Given the description of an element on the screen output the (x, y) to click on. 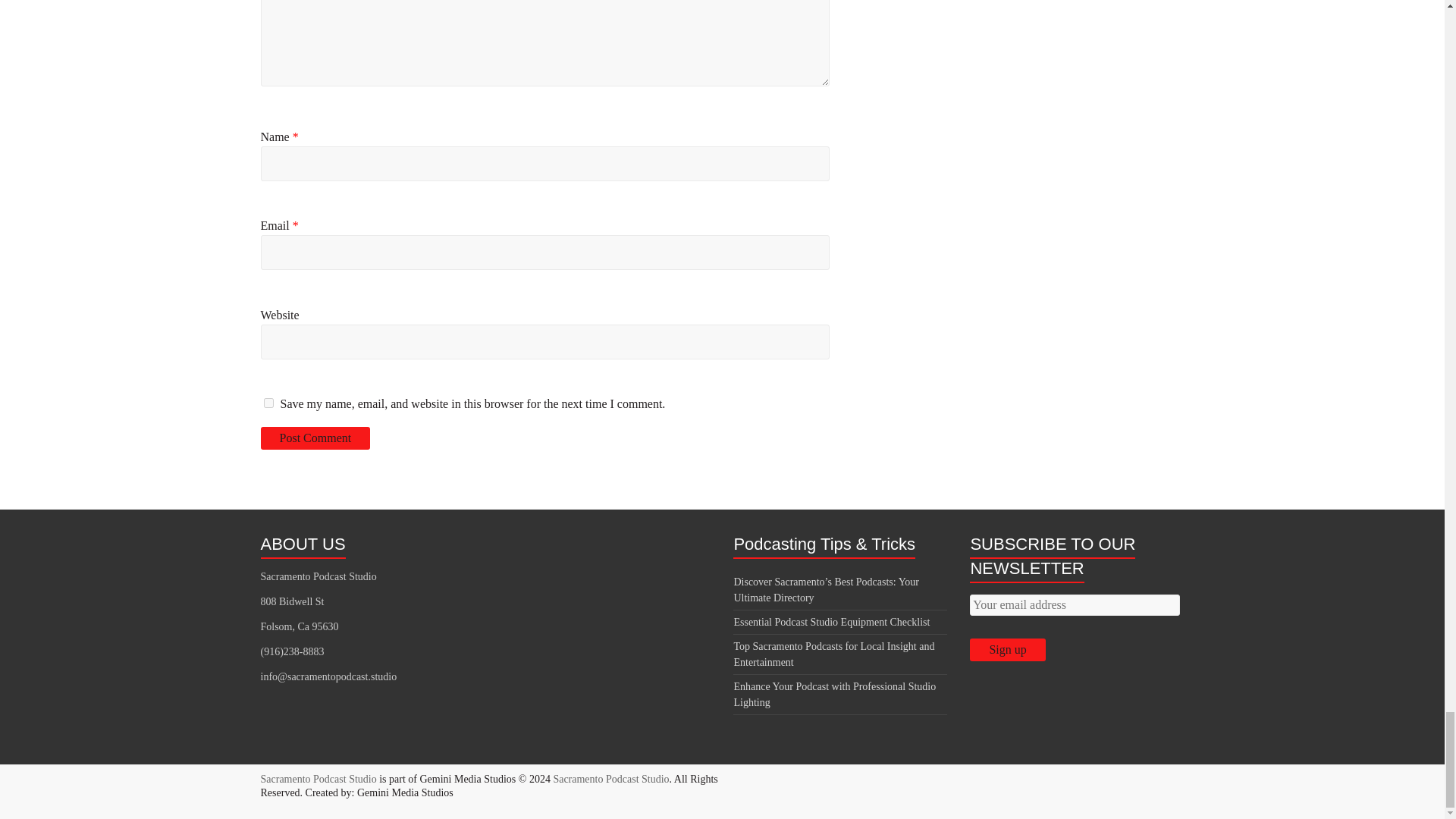
Post Comment (315, 437)
Sign up (1007, 649)
Post Comment (315, 437)
yes (268, 402)
